Given the description of an element on the screen output the (x, y) to click on. 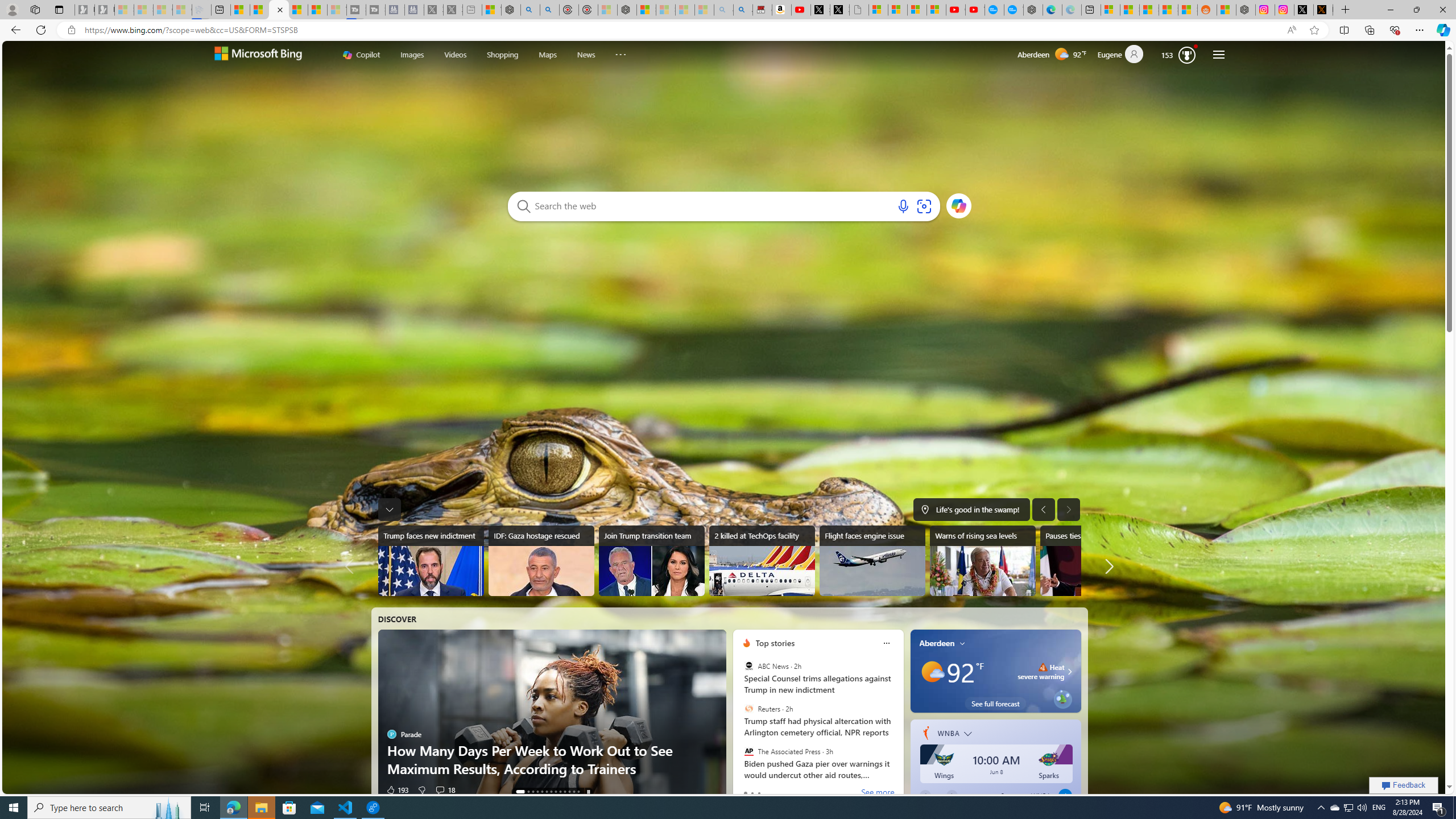
More options (885, 643)
Maps (547, 53)
Pauses ties with US embassy (1092, 560)
Previous (924, 795)
tab-0 (744, 793)
Start the conversation (435, 789)
Class: scopes  (494, 53)
Search using voice (903, 205)
